Given the description of an element on the screen output the (x, y) to click on. 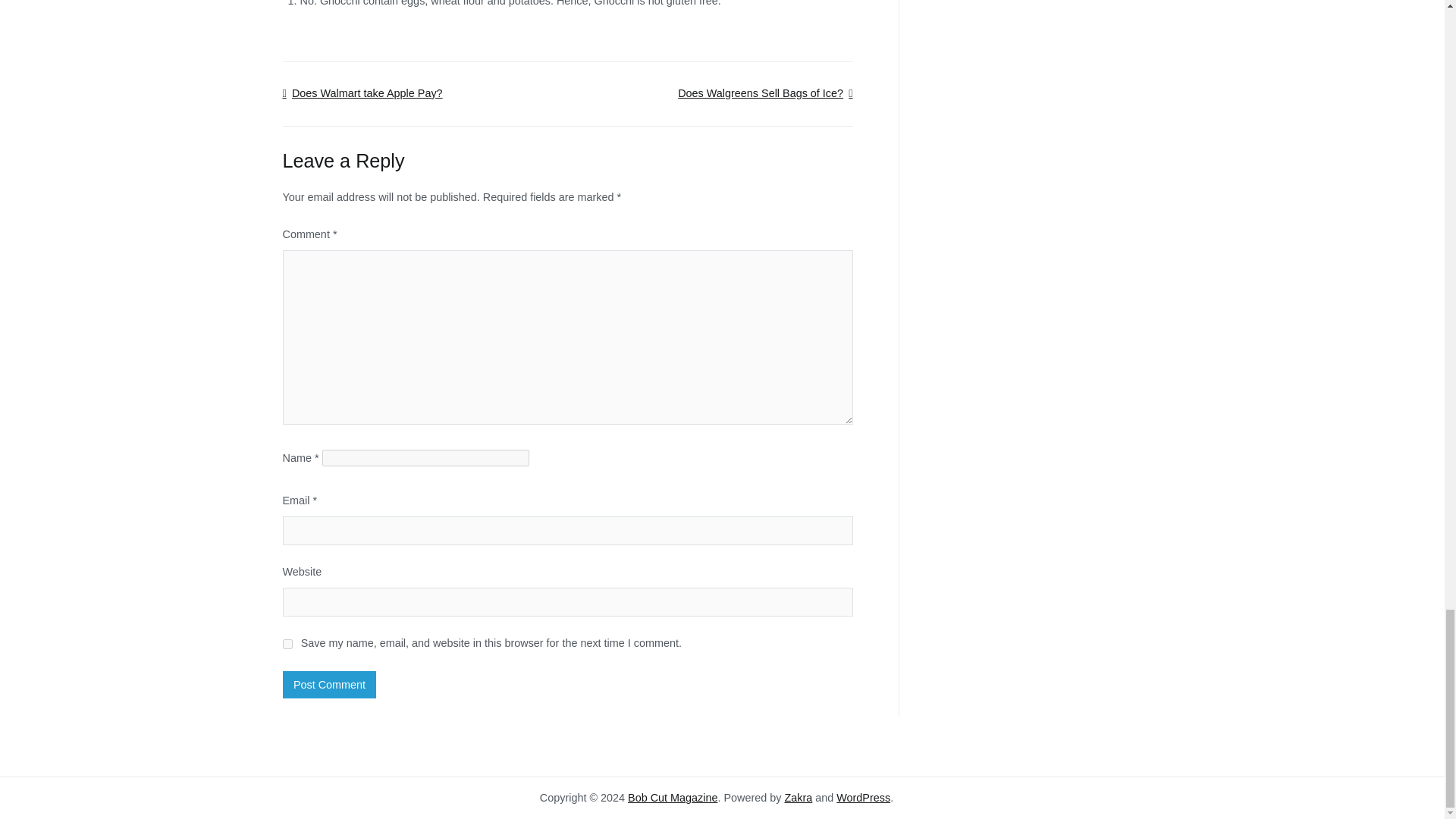
Zakra (798, 797)
Bob Cut Magazine (672, 797)
yes (287, 644)
Post Comment (328, 684)
WordPress (862, 797)
